Given the description of an element on the screen output the (x, y) to click on. 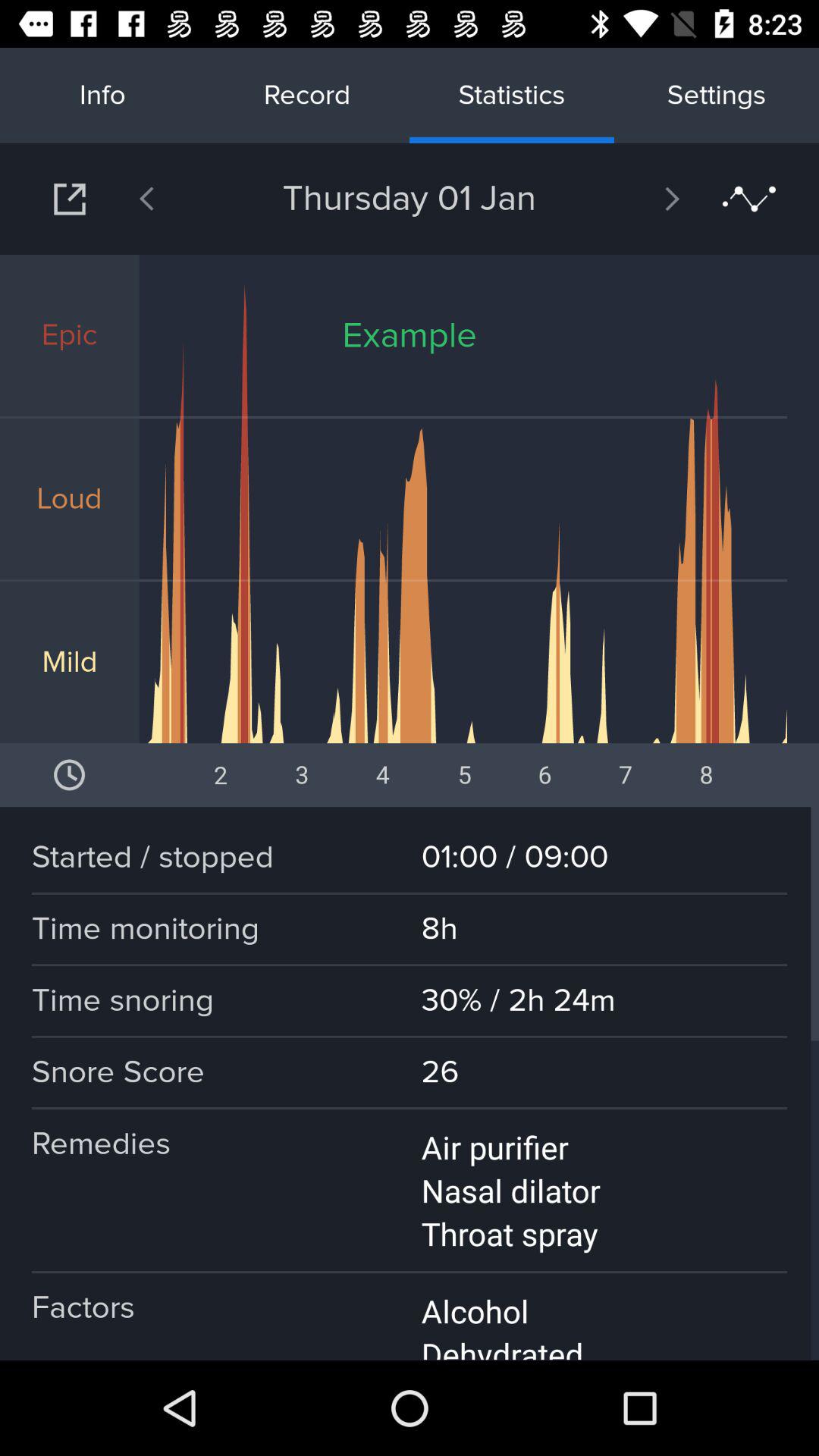
move forward (632, 198)
